Given the description of an element on the screen output the (x, y) to click on. 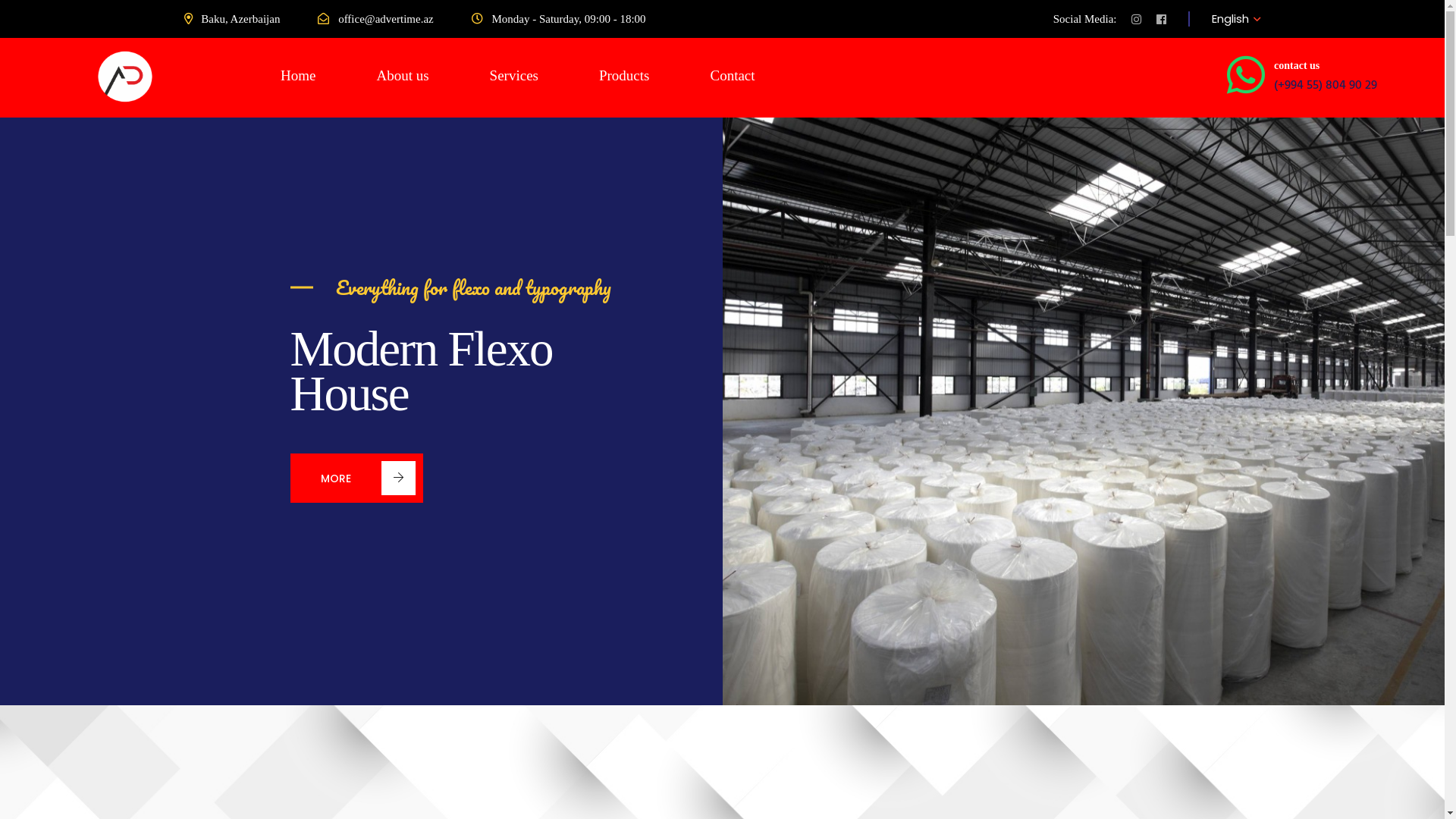
MORE Element type: text (355, 477)
Products Element type: text (624, 76)
Services Element type: text (513, 76)
English Element type: text (1229, 18)
(+994 55) 804 90 29 Element type: text (1325, 85)
About us Element type: text (401, 76)
Contact Element type: text (731, 76)
Home Element type: text (297, 76)
